Given the description of an element on the screen output the (x, y) to click on. 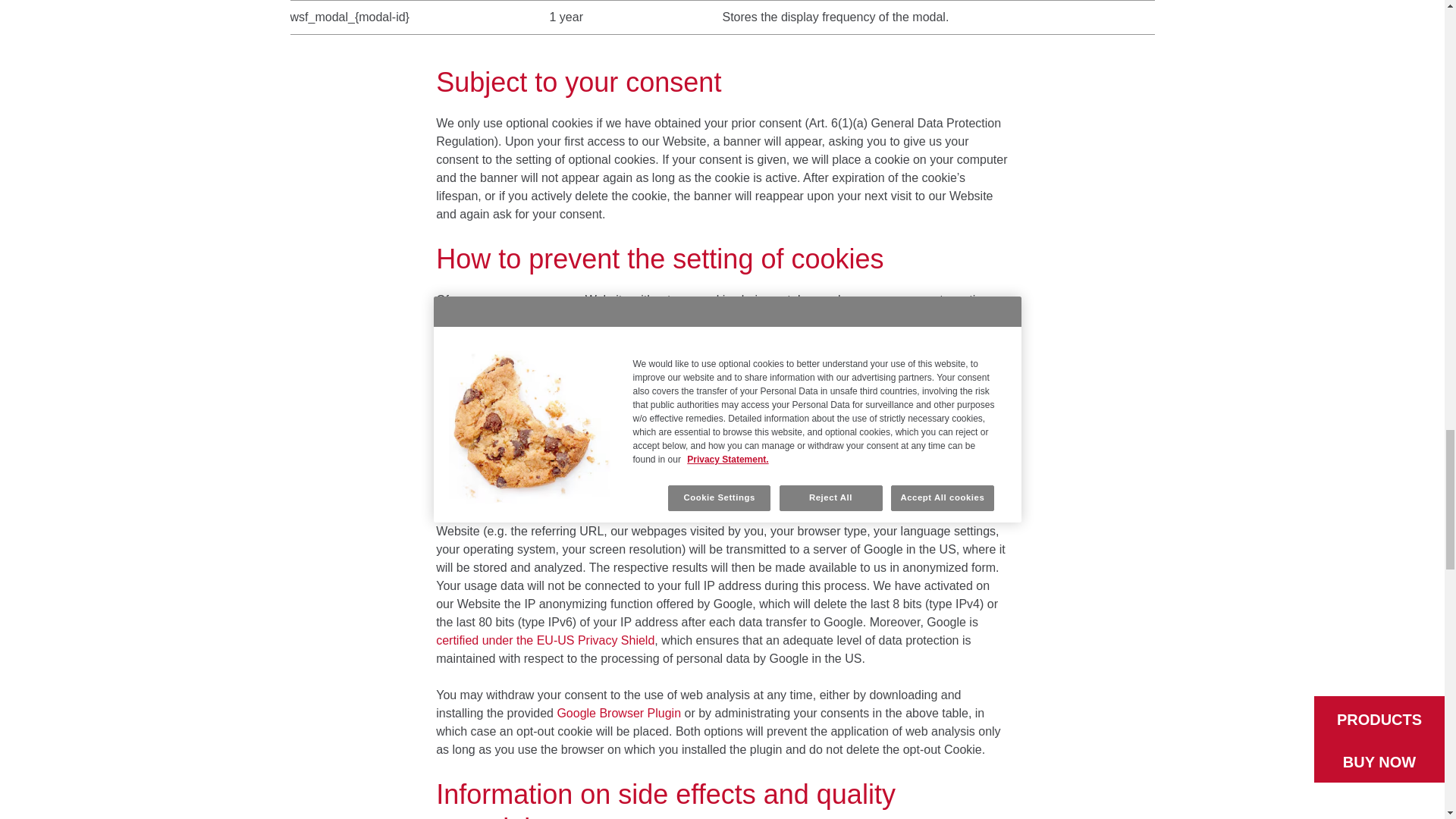
Google Browser Plugin (618, 712)
certified under the EU-US Privacy Shield (544, 640)
